Given the description of an element on the screen output the (x, y) to click on. 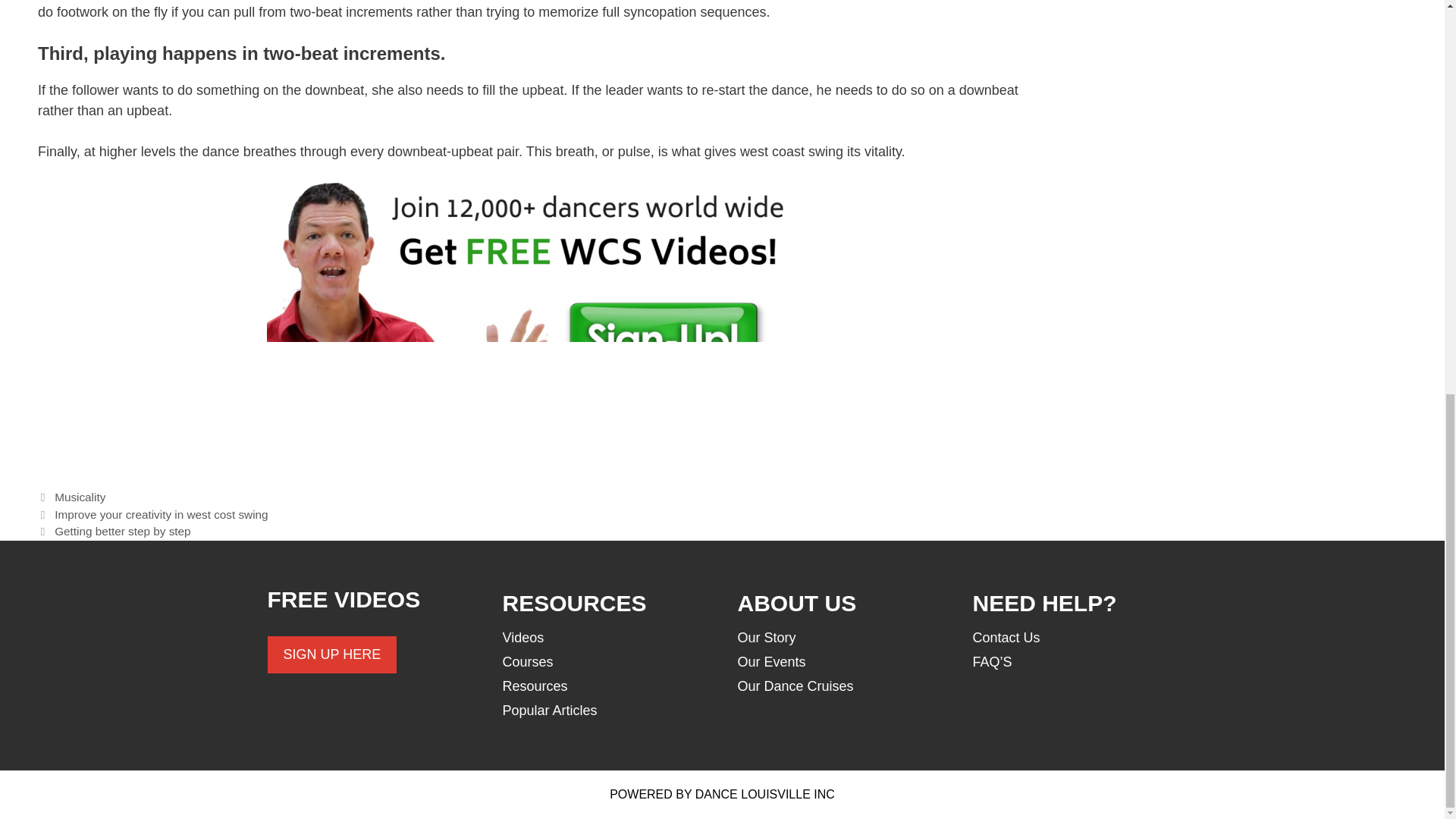
Contact Us (1005, 637)
Improve your creativity in west cost swing (161, 513)
Our Story (765, 637)
Videos (522, 637)
FREE VIDEOS (343, 599)
Getting better step by step (122, 530)
Our Dance Cruises (794, 685)
Popular Articles (549, 710)
Courses (527, 661)
Musicality (79, 496)
